Given the description of an element on the screen output the (x, y) to click on. 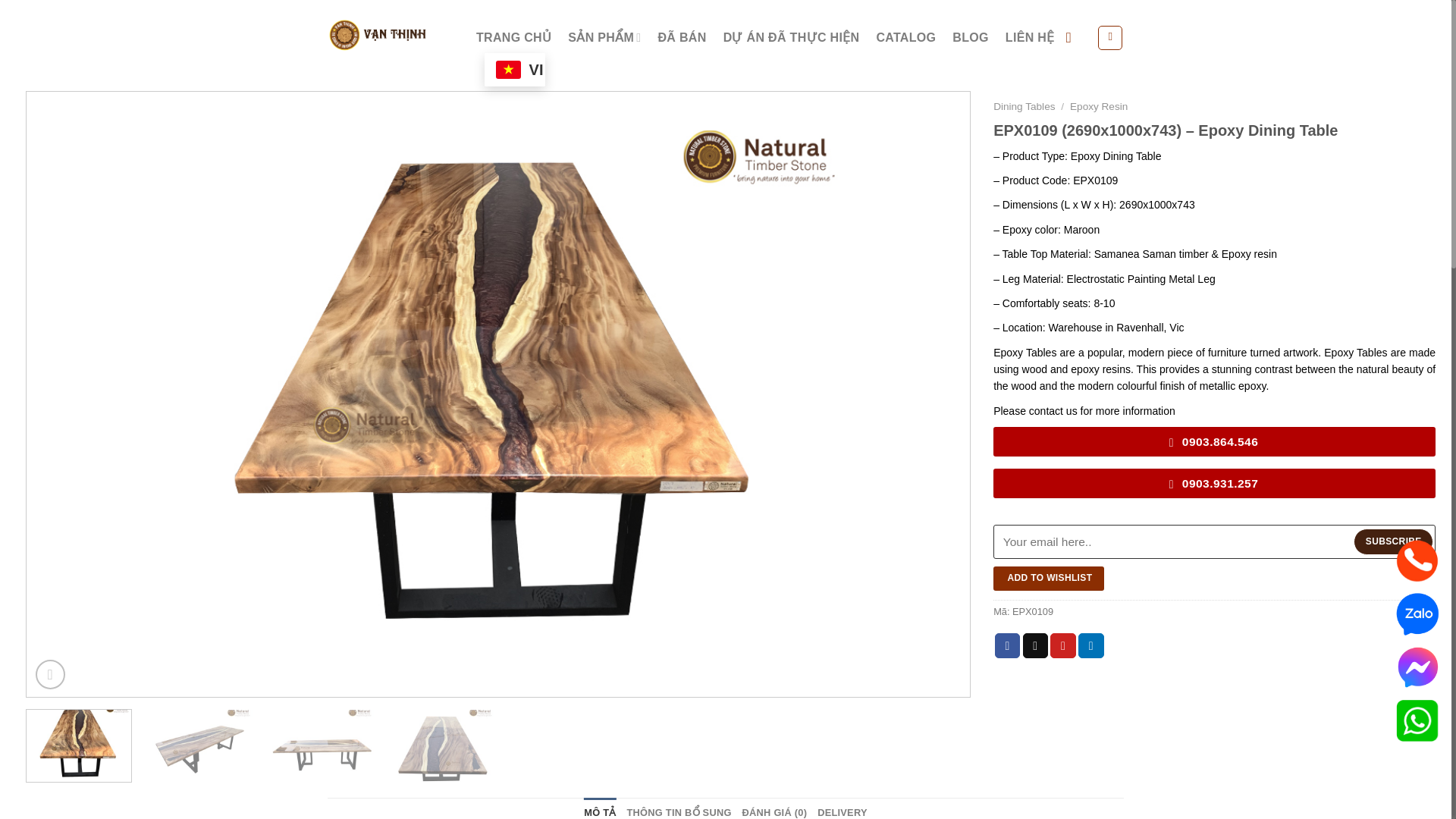
Hotline (1416, 719)
Zalo (1416, 612)
CATALOG (906, 37)
BLOG (970, 37)
Subscribe (1393, 541)
Messenger (1416, 666)
Hotline (1416, 559)
